Given the description of an element on the screen output the (x, y) to click on. 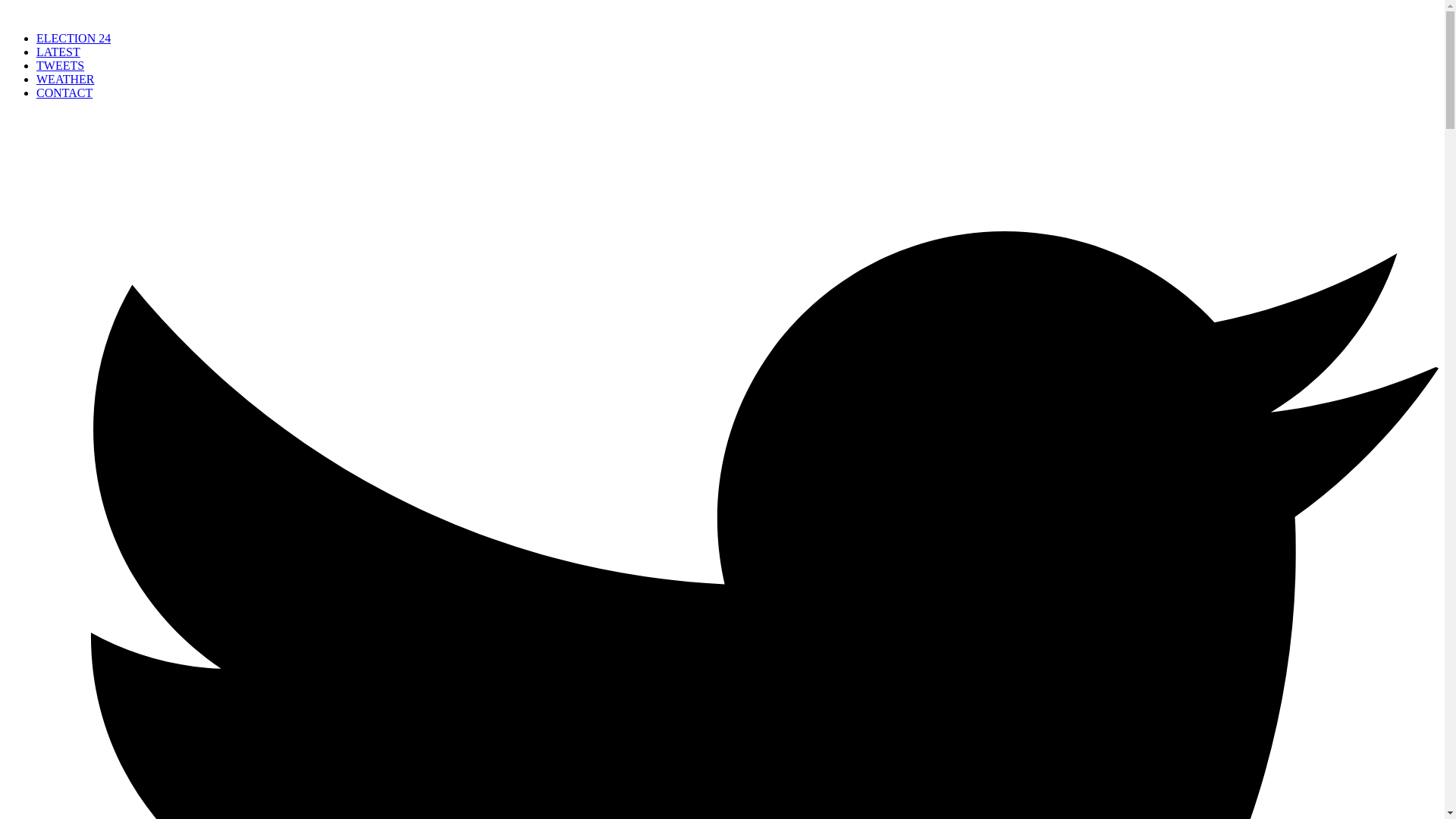
CONTACT (64, 92)
TWEETS (60, 65)
ELECTION 24 (73, 38)
WEATHER (65, 78)
LATEST (58, 51)
